Given the description of an element on the screen output the (x, y) to click on. 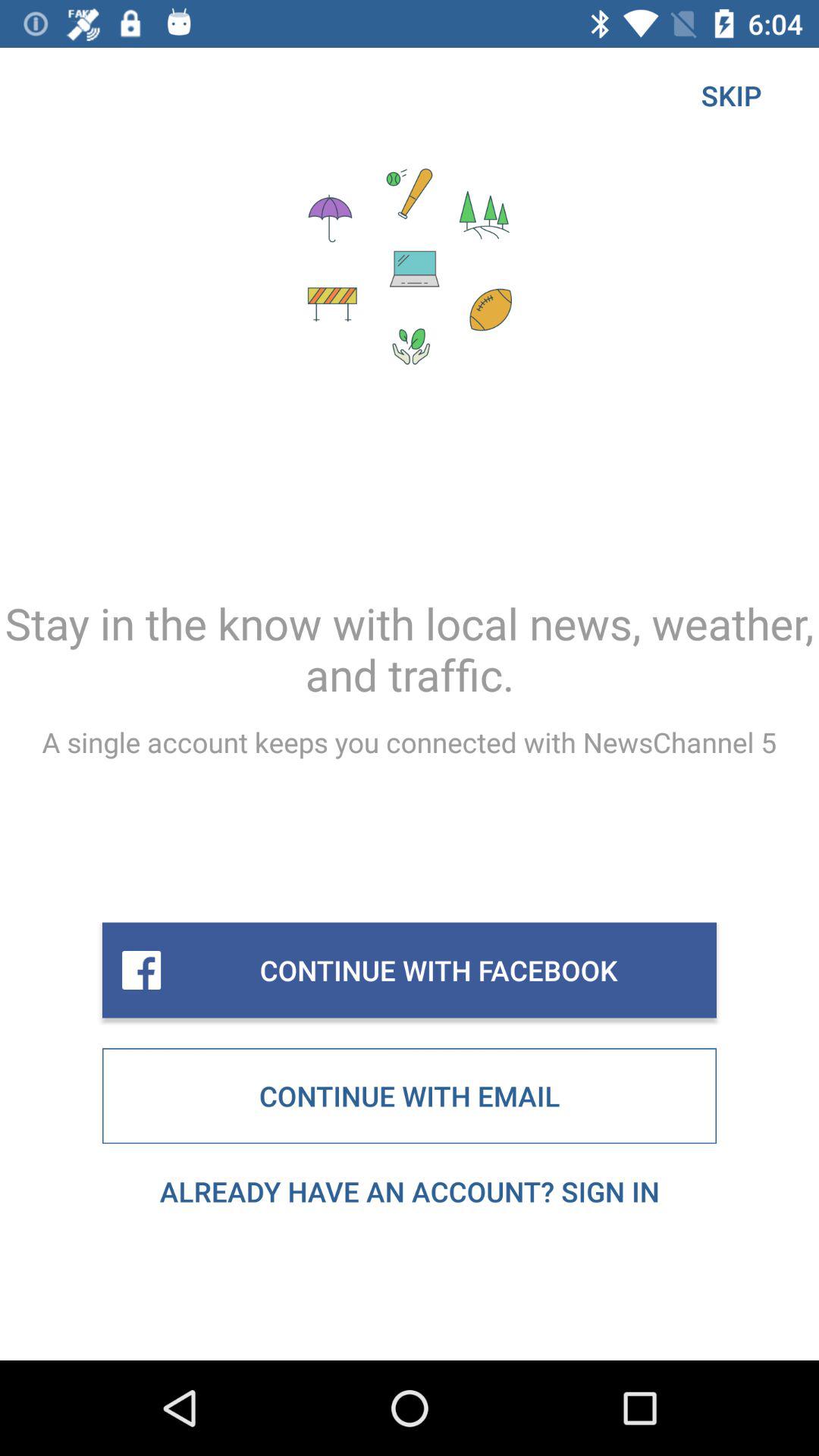
launch icon above stay in the (731, 95)
